Given the description of an element on the screen output the (x, y) to click on. 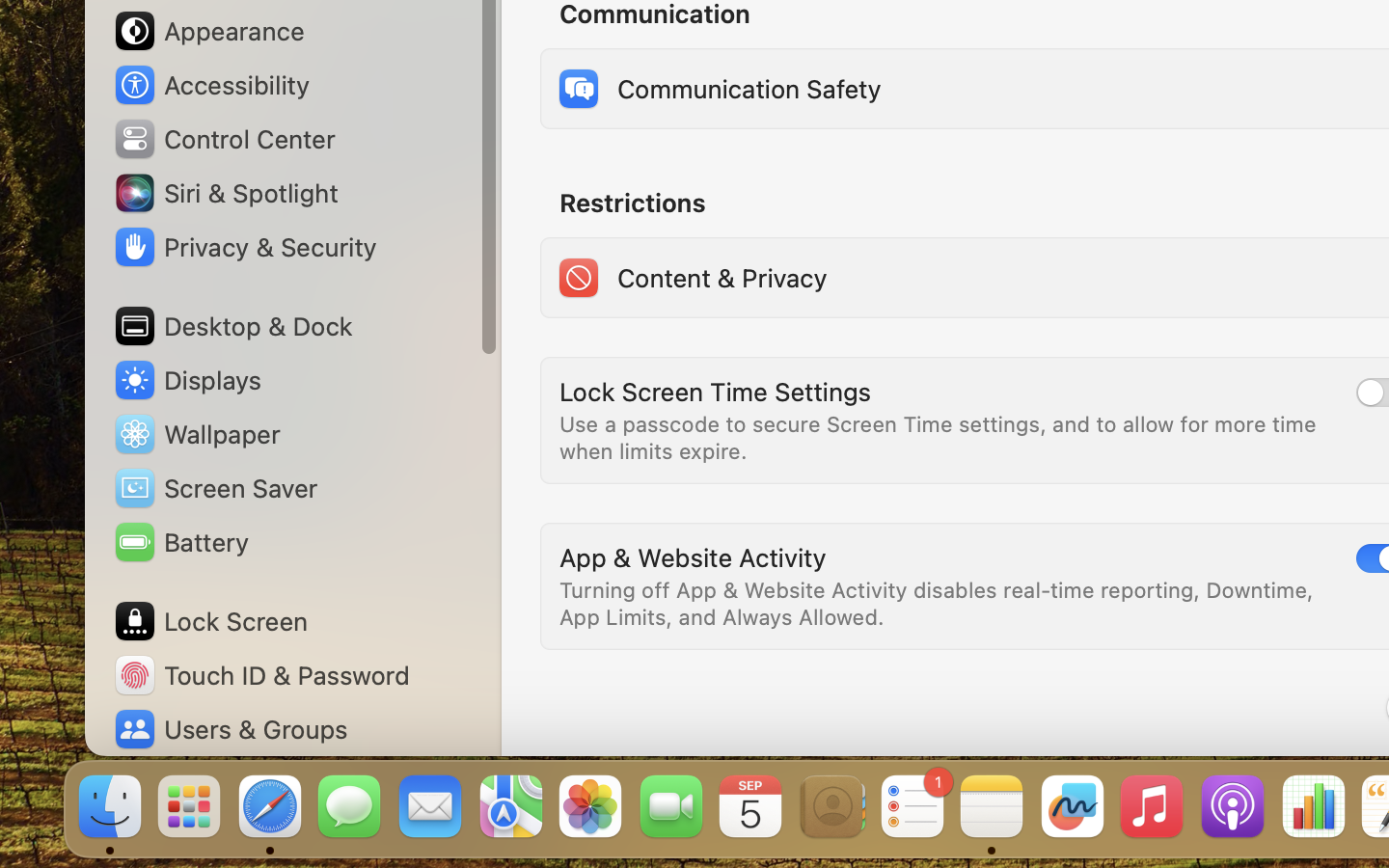
Privacy & Security Element type: AXStaticText (243, 246)
Wallpaper Element type: AXStaticText (195, 433)
Lock Screen Element type: AXStaticText (209, 620)
Desktop & Dock Element type: AXStaticText (232, 325)
Appearance Element type: AXStaticText (207, 30)
